Given the description of an element on the screen output the (x, y) to click on. 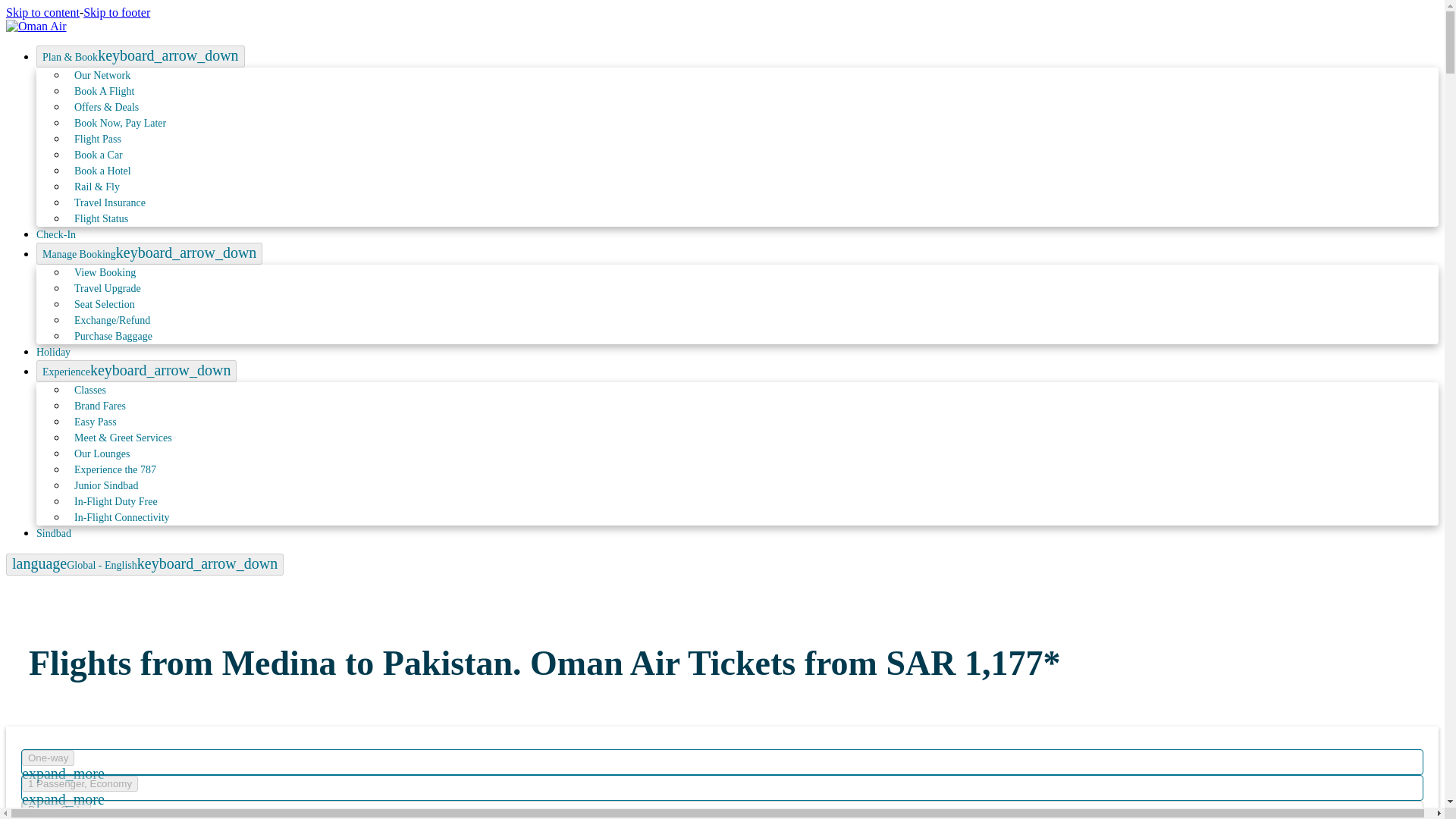
One-way (47, 757)
Our Lounges (102, 453)
Promo Code (55, 809)
Sindbad (53, 532)
Classes (89, 389)
Book Now, Pay Later (119, 122)
Flight Pass (97, 138)
Brand Fares (99, 405)
Seat Selection (104, 304)
Book a Hotel (102, 170)
Flight Status (100, 218)
Skip to footer (115, 11)
Easy Pass (94, 421)
Book a Car (98, 154)
Book A Flight (103, 91)
